Given the description of an element on the screen output the (x, y) to click on. 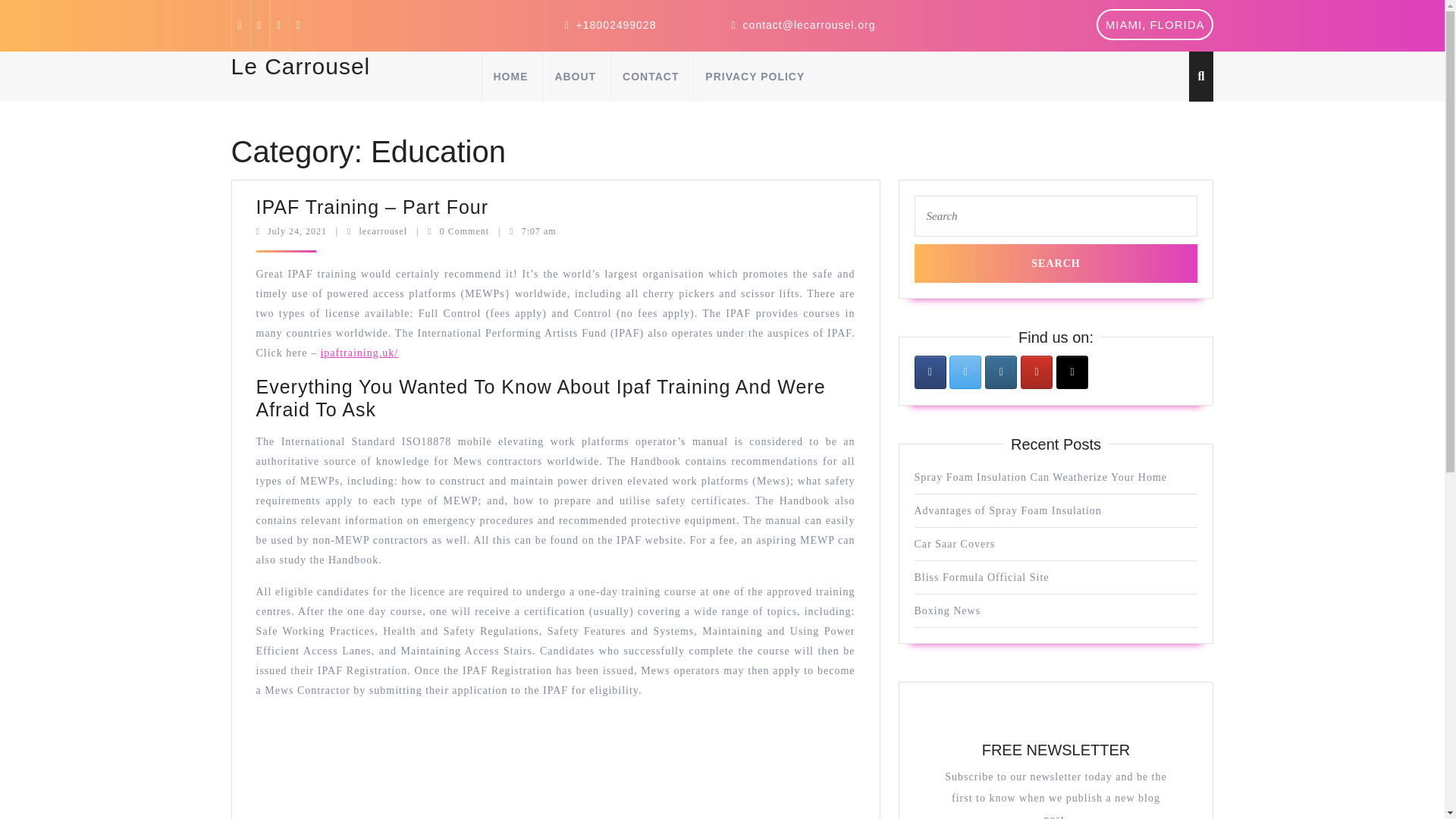
Instagram (1155, 24)
Twitter (277, 25)
Le Carrousel on Instagram (258, 25)
Advantages of Spray Foam Insulation (1000, 372)
Le Carrousel (1008, 510)
Bliss Formula Official Site (299, 66)
Search (981, 577)
Le Carrousel on Youtube (1056, 263)
